Given the description of an element on the screen output the (x, y) to click on. 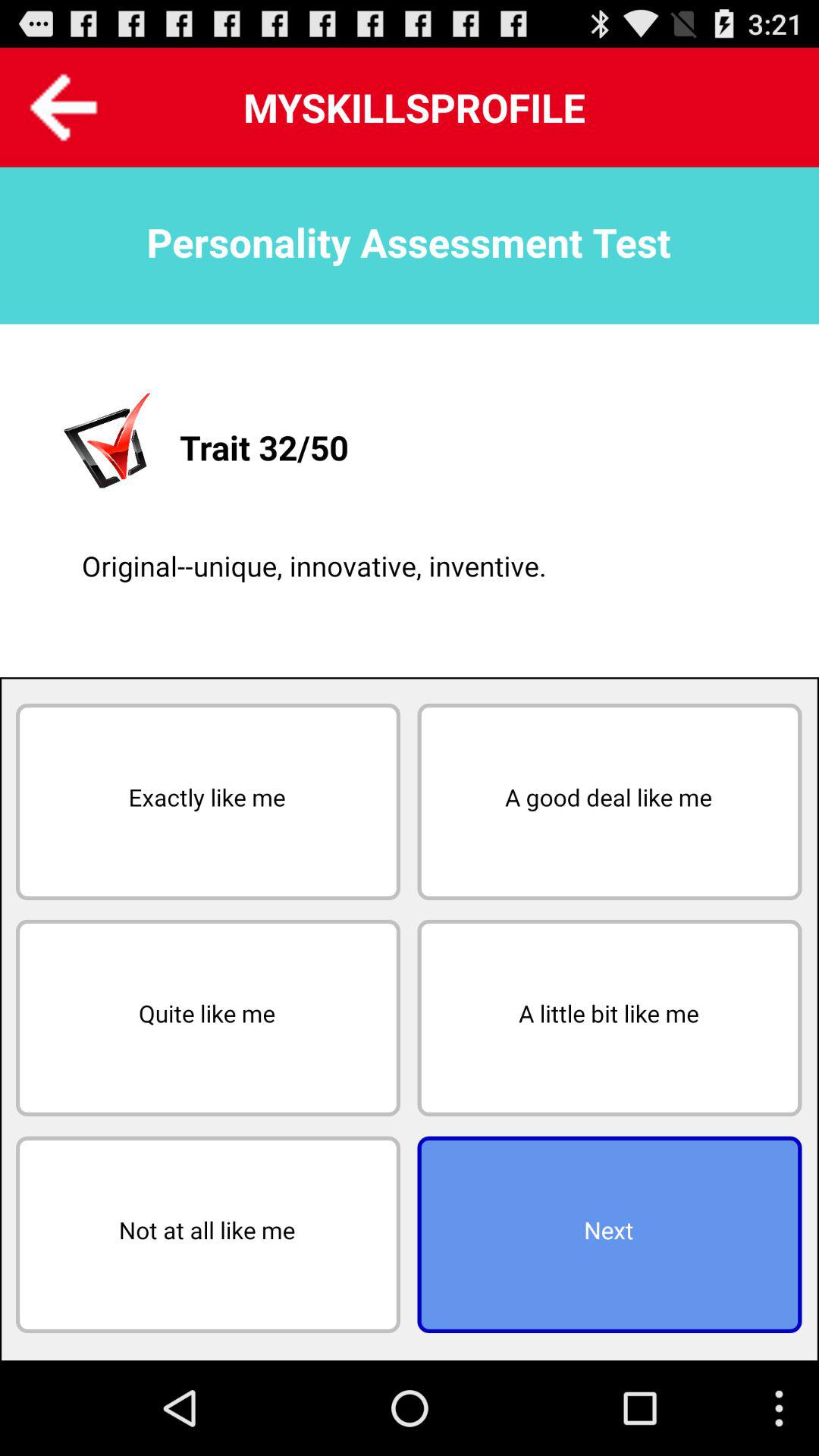
select button to the left of the next button (207, 1234)
